Given the description of an element on the screen output the (x, y) to click on. 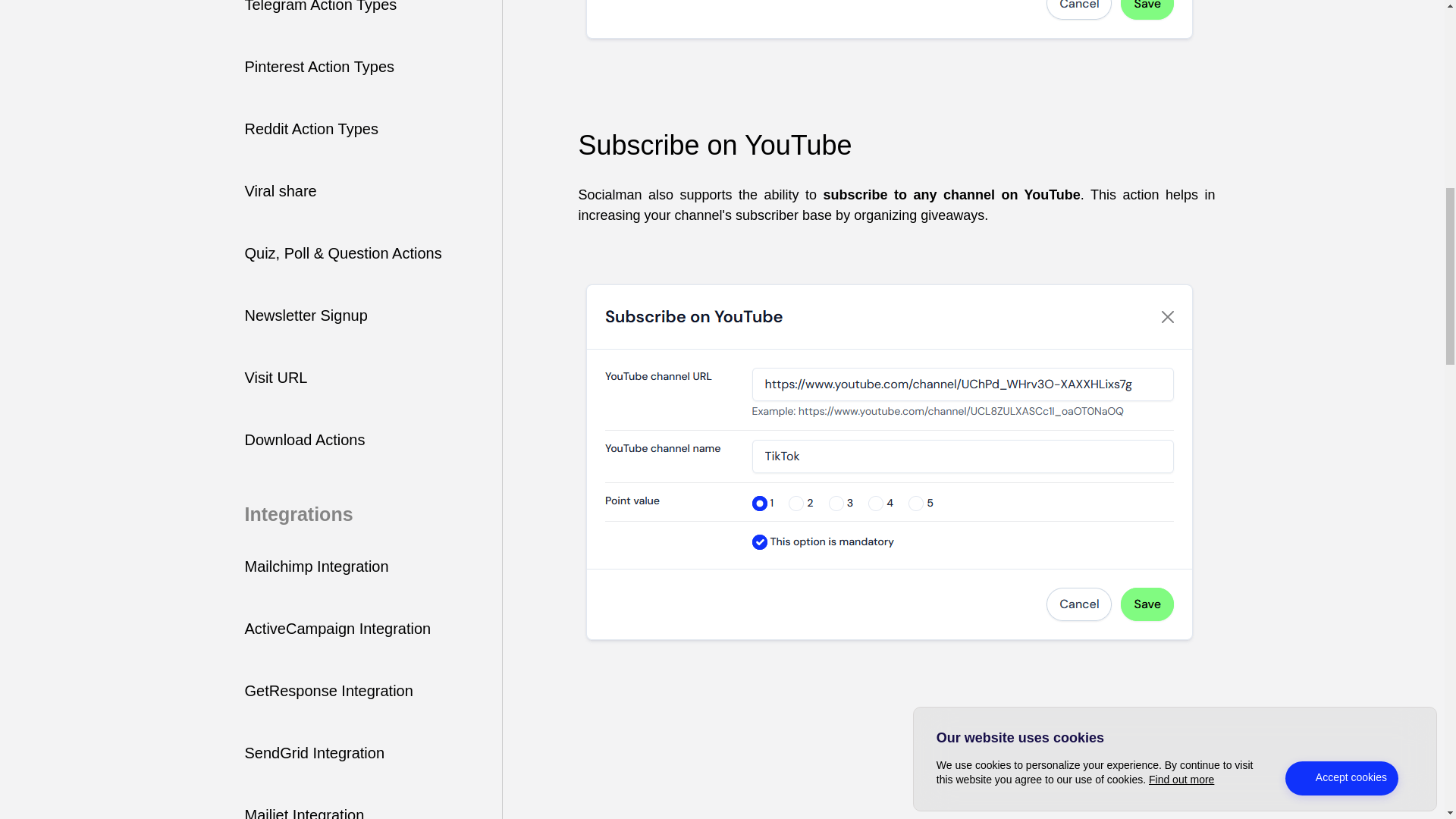
Reddit Action Types (310, 128)
Mailjet Integration (304, 812)
Newsletter Signup (305, 315)
Pinterest Action Types (319, 66)
Download Actions (304, 439)
ActiveCampaign Integration (337, 628)
Mailchimp Integration (316, 565)
Visit URL (275, 377)
Telegram Action Types (320, 6)
Viral share (279, 190)
